Given the description of an element on the screen output the (x, y) to click on. 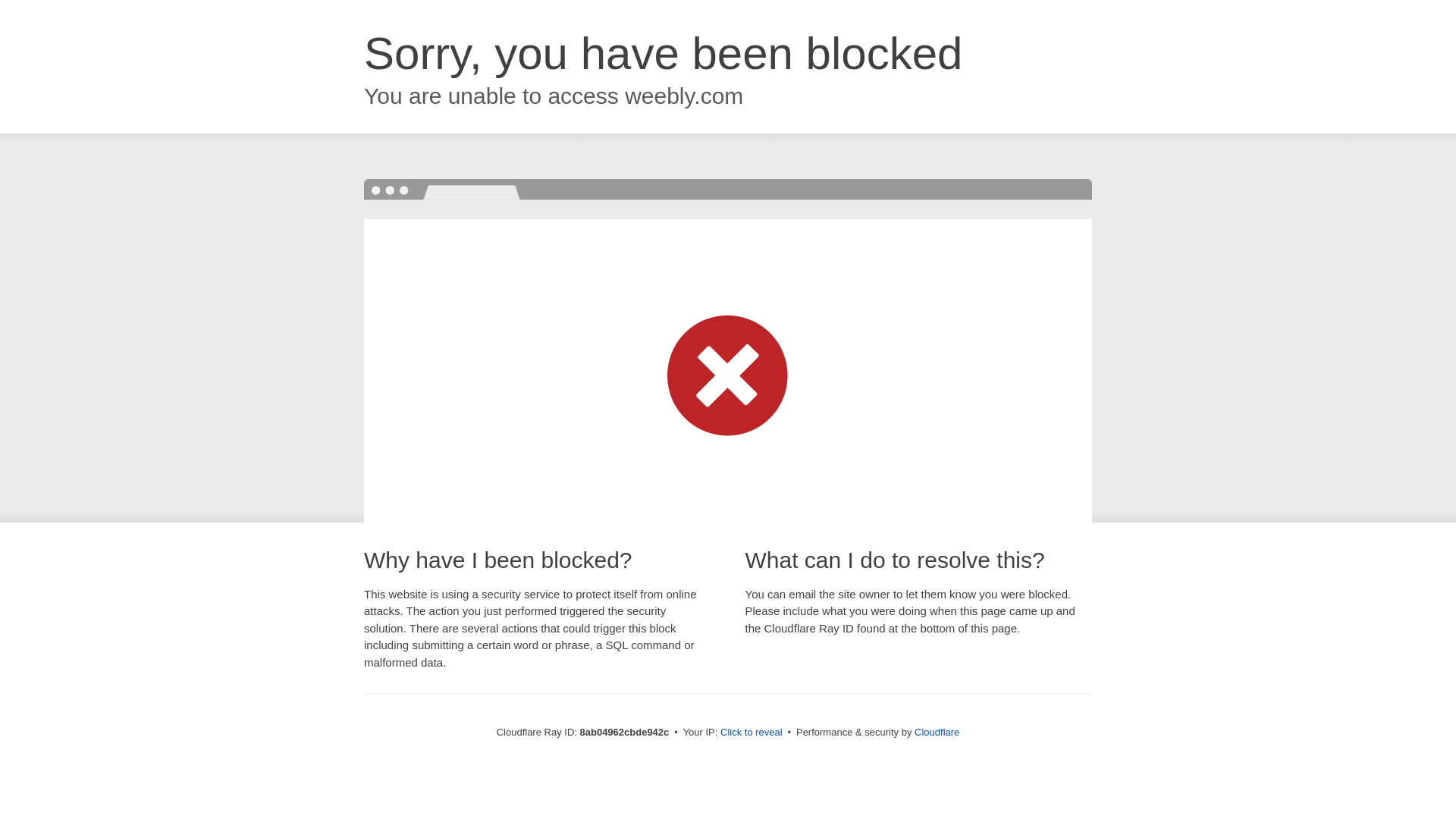
Cloudflare (936, 731)
Click to reveal (751, 732)
